Given the description of an element on the screen output the (x, y) to click on. 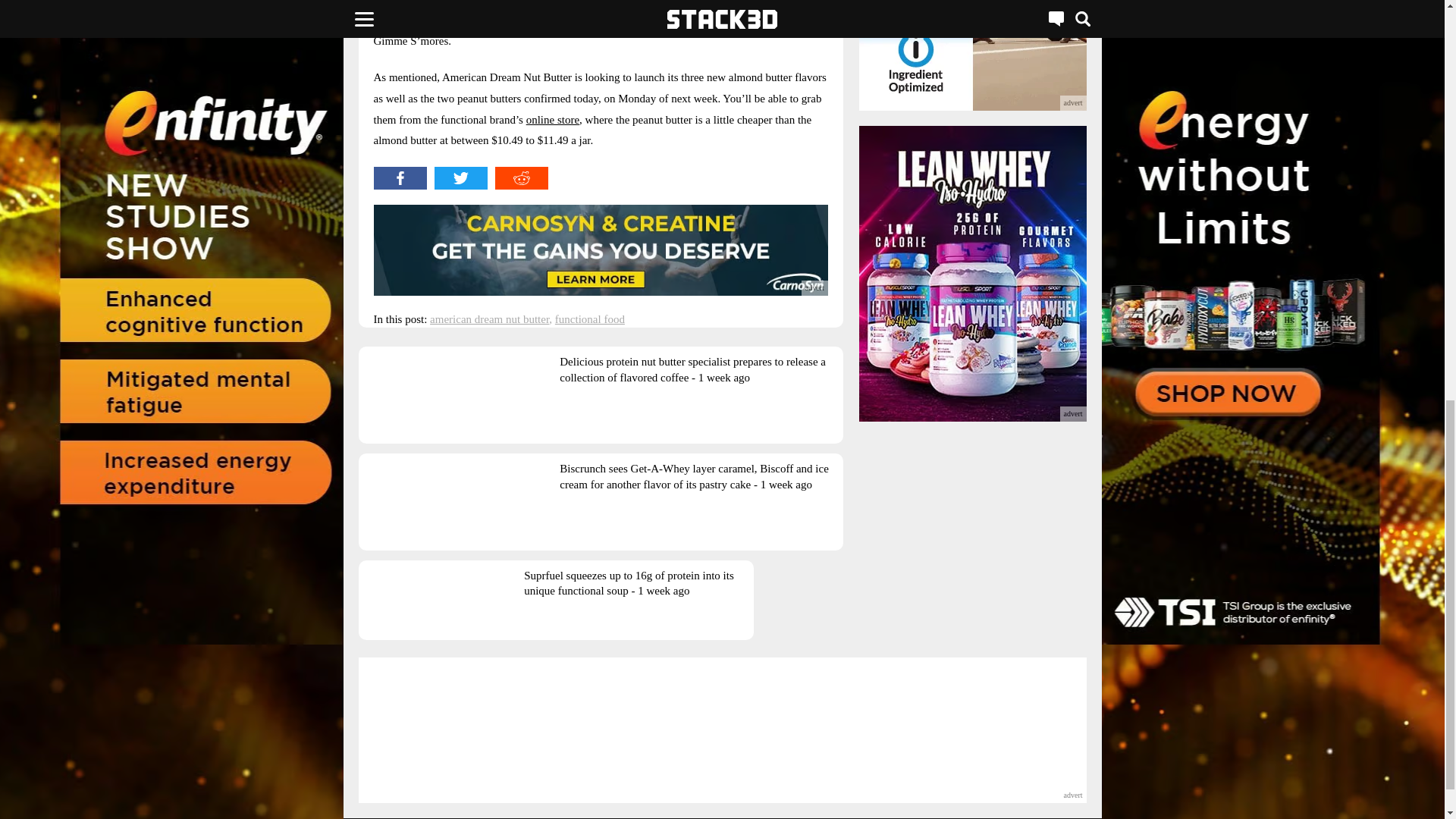
american dream nut butter (488, 318)
online store (552, 119)
